Given the description of an element on the screen output the (x, y) to click on. 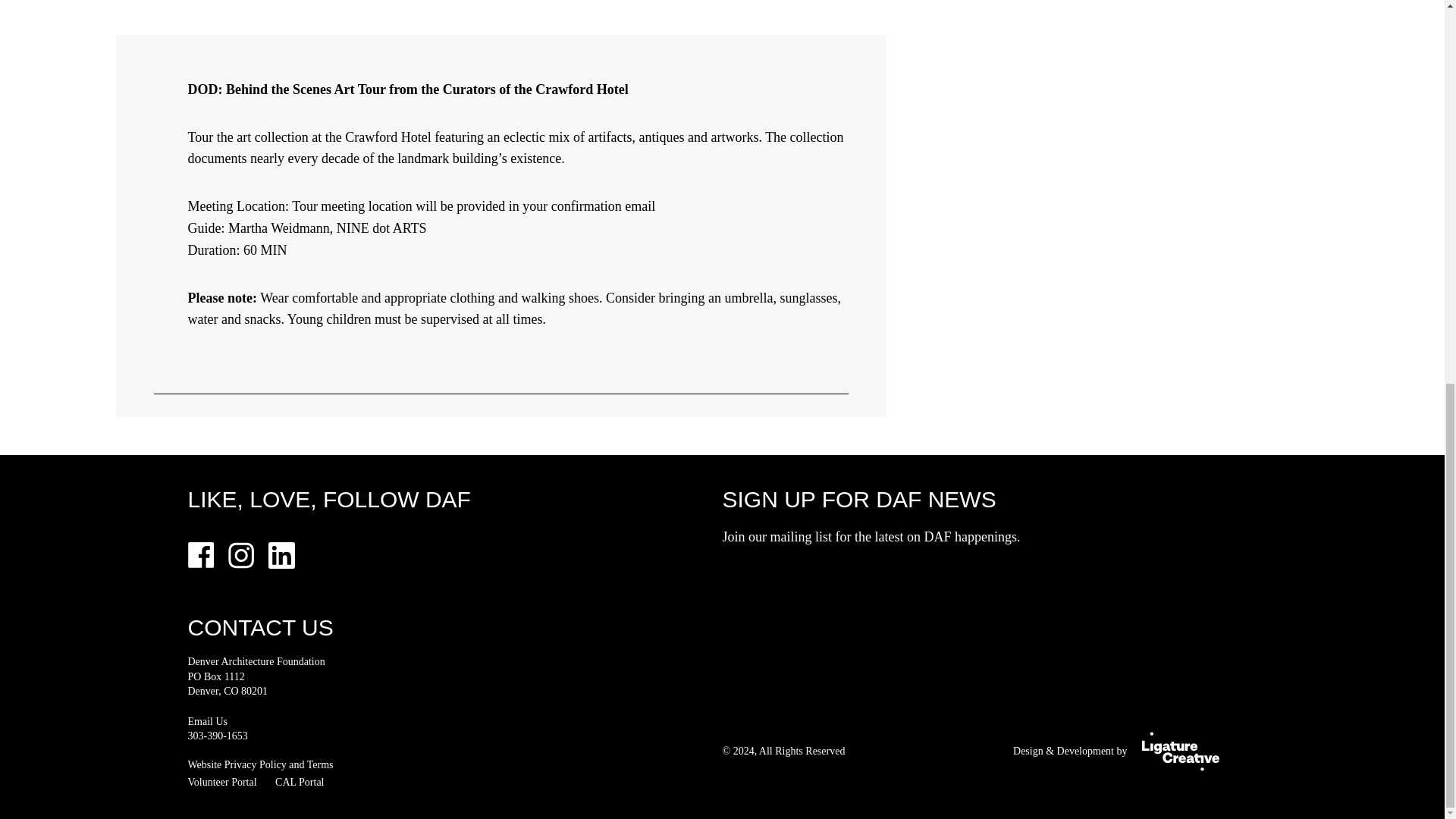
Website Privacy Policy and Terms (260, 764)
303-390-1653 (217, 736)
Email Us (207, 721)
